Given the description of an element on the screen output the (x, y) to click on. 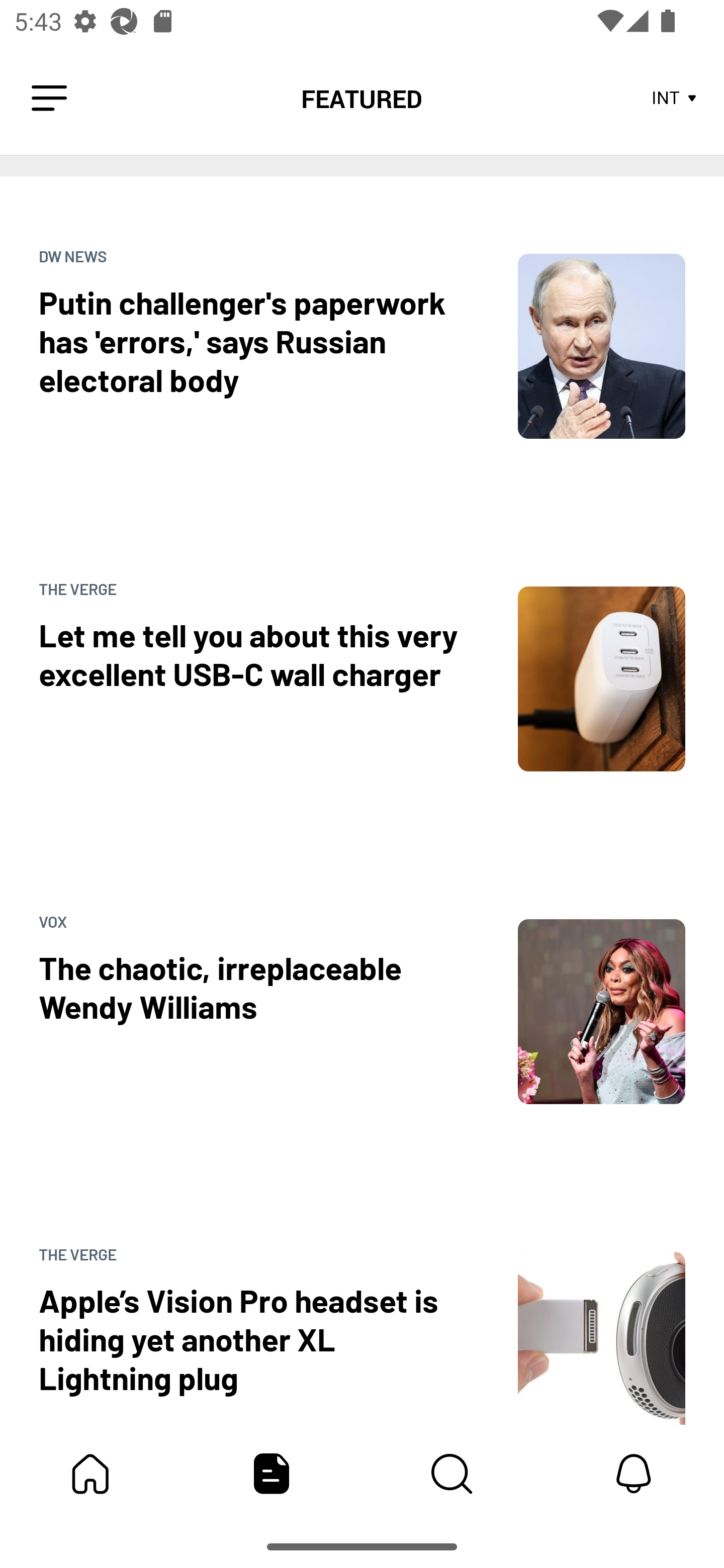
INT Store Area (674, 98)
Leading Icon (49, 98)
My Bundle (90, 1473)
Content Store (452, 1473)
Notifications (633, 1473)
